Given the description of an element on the screen output the (x, y) to click on. 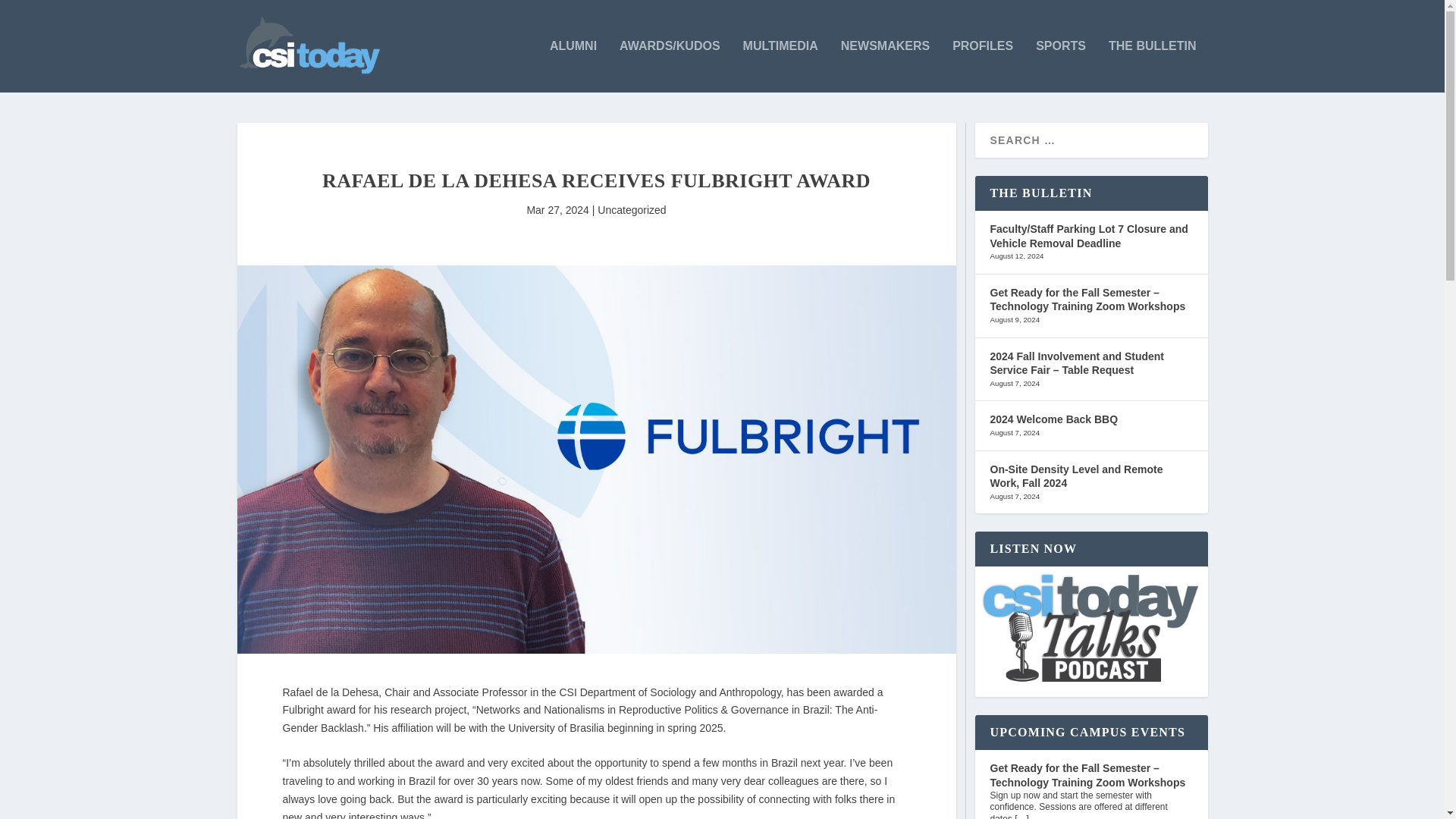
PROFILES (982, 66)
SPORTS (1060, 66)
MULTIMEDIA (780, 66)
THE BULLETIN (1152, 66)
ALUMNI (573, 66)
NEWSMAKERS (885, 66)
Search (31, 13)
Uncategorized (630, 209)
